Given the description of an element on the screen output the (x, y) to click on. 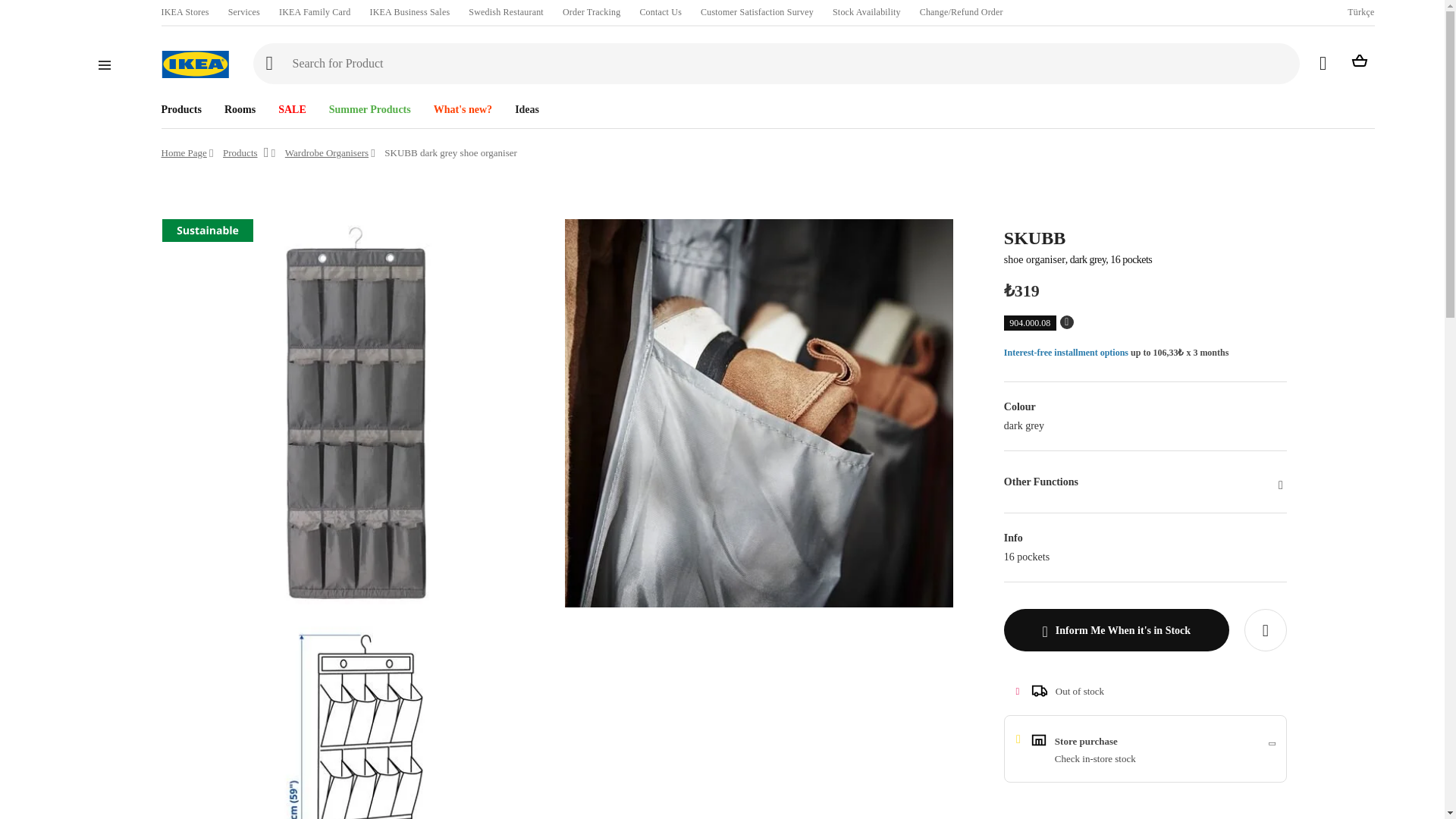
SALE (280, 104)
Summer Products (357, 104)
What's new? (451, 104)
Customer Satisfaction Survey (756, 12)
Swedish Restaurant (505, 12)
Rooms (229, 104)
Services (244, 12)
IKEA Stores (184, 12)
Order Tracking (591, 12)
Products (180, 104)
IKEA Business Sales (409, 12)
IKEA (194, 63)
Contact Us (660, 12)
Stock Availability (866, 12)
Ideas (515, 104)
